Given the description of an element on the screen output the (x, y) to click on. 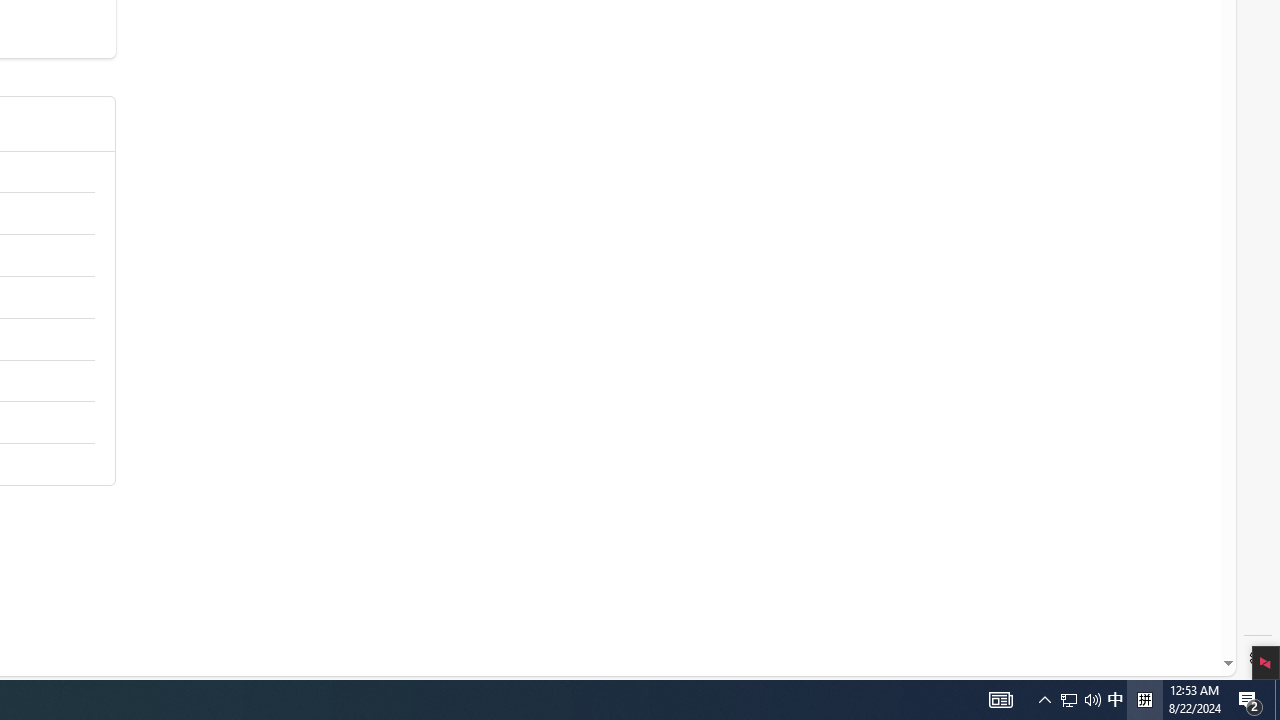
Search more (1182, 604)
AutomationID: mfa_root (1153, 603)
